Given the description of an element on the screen output the (x, y) to click on. 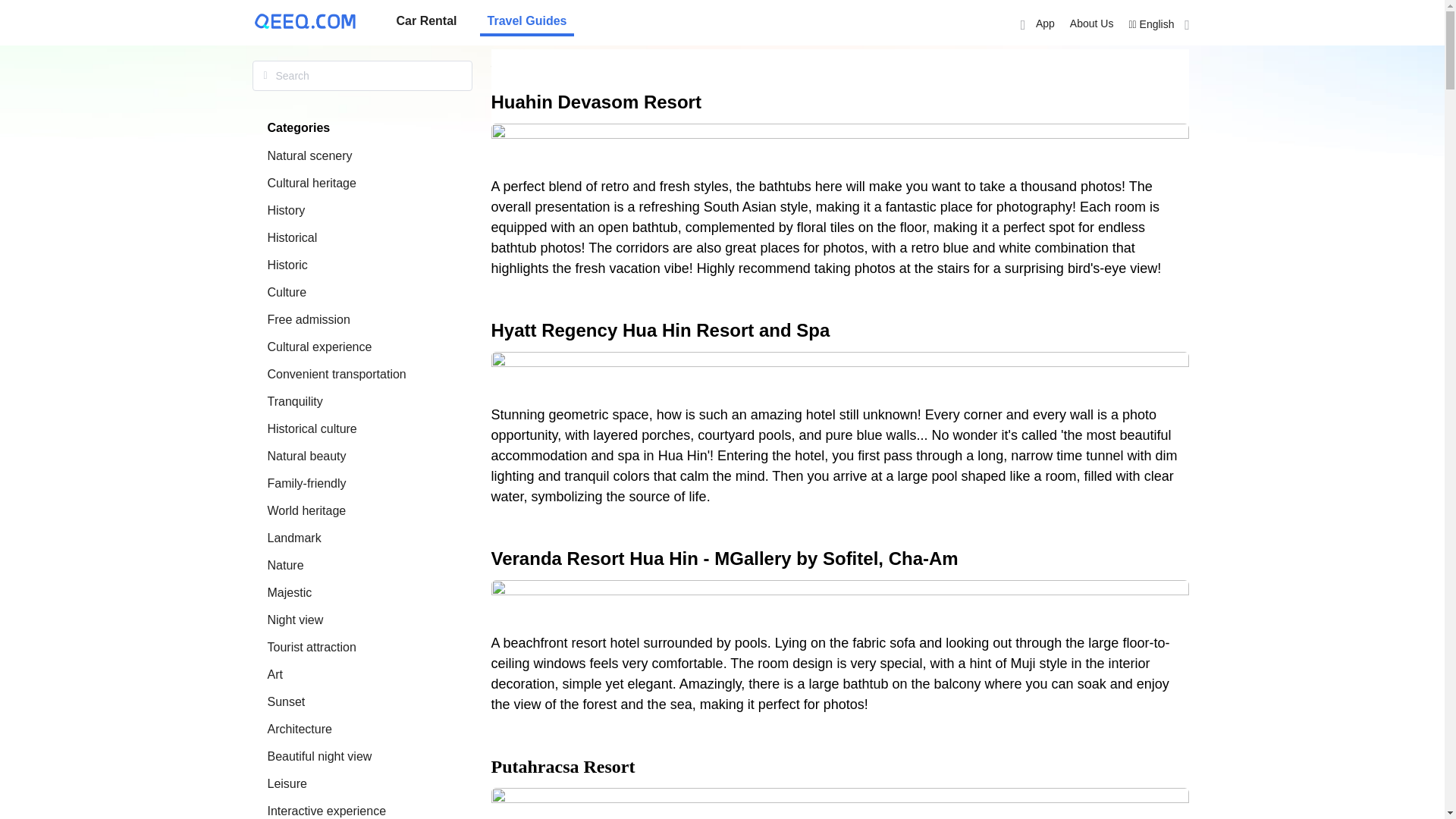
Tranquility (293, 400)
Majestic travel guides (288, 592)
Natural scenery travel guides (309, 155)
Landmark (293, 537)
Culture (285, 291)
Historical (291, 237)
Car Rental (426, 21)
Interactive experience (325, 810)
Historic (286, 264)
Historical culture (311, 428)
